Given the description of an element on the screen output the (x, y) to click on. 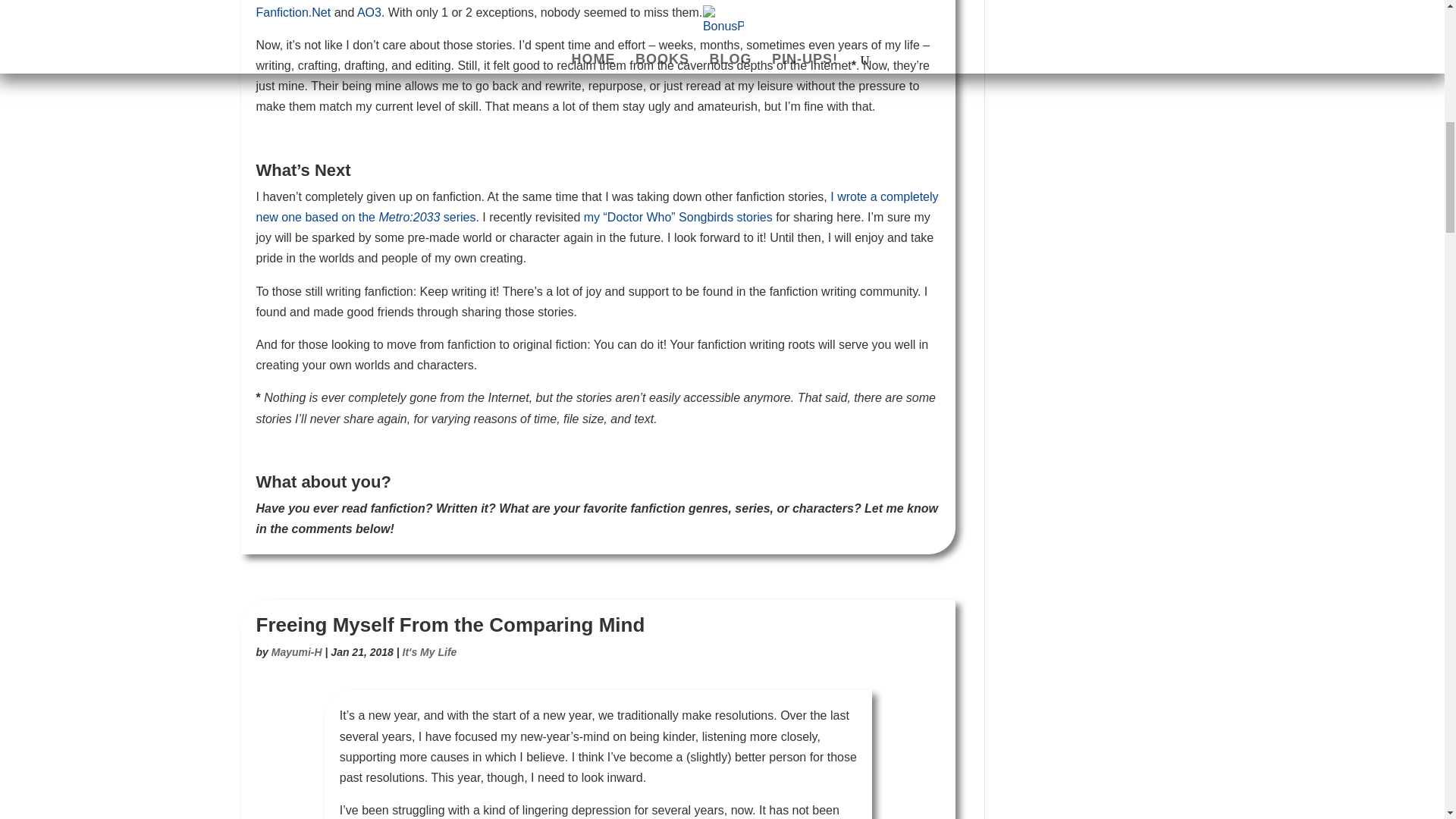
Freeing Myself From the Comparing Mind (450, 624)
I wrote a completely new one based on the Metro:2033 series (597, 206)
Mayumi-H (295, 652)
Fanfiction.Net (293, 11)
Posts by Mayumi-H (295, 652)
AO3 (368, 11)
It's My Life (430, 652)
